Given the description of an element on the screen output the (x, y) to click on. 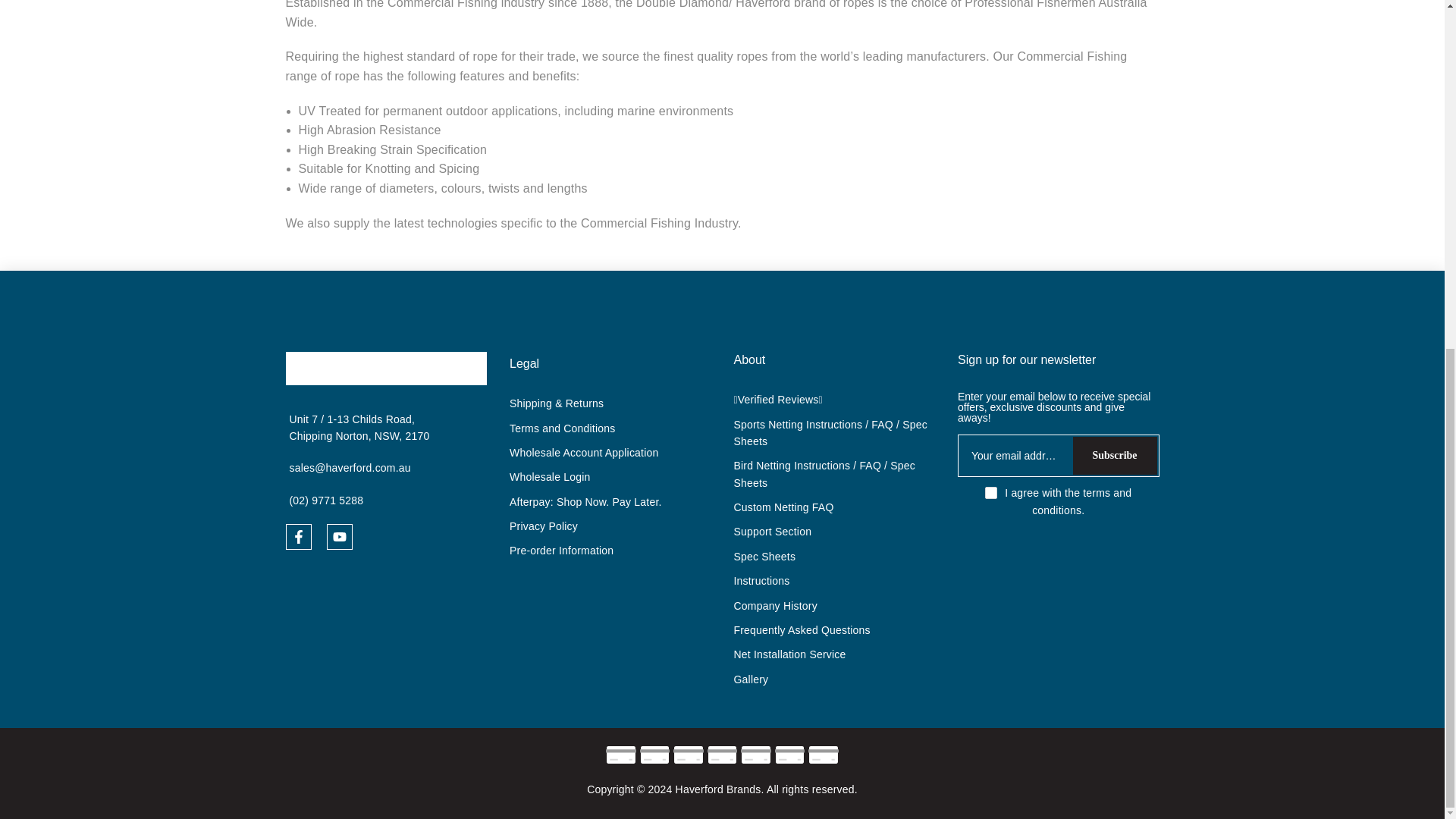
Terms and Conditions (561, 428)
Follow on Facebook (298, 536)
Follow on YouTube (339, 536)
Afterpay: Shop Now. Pay Later. (585, 501)
Wholesale Login (550, 476)
Wholesale Account Application (583, 452)
